Given the description of an element on the screen output the (x, y) to click on. 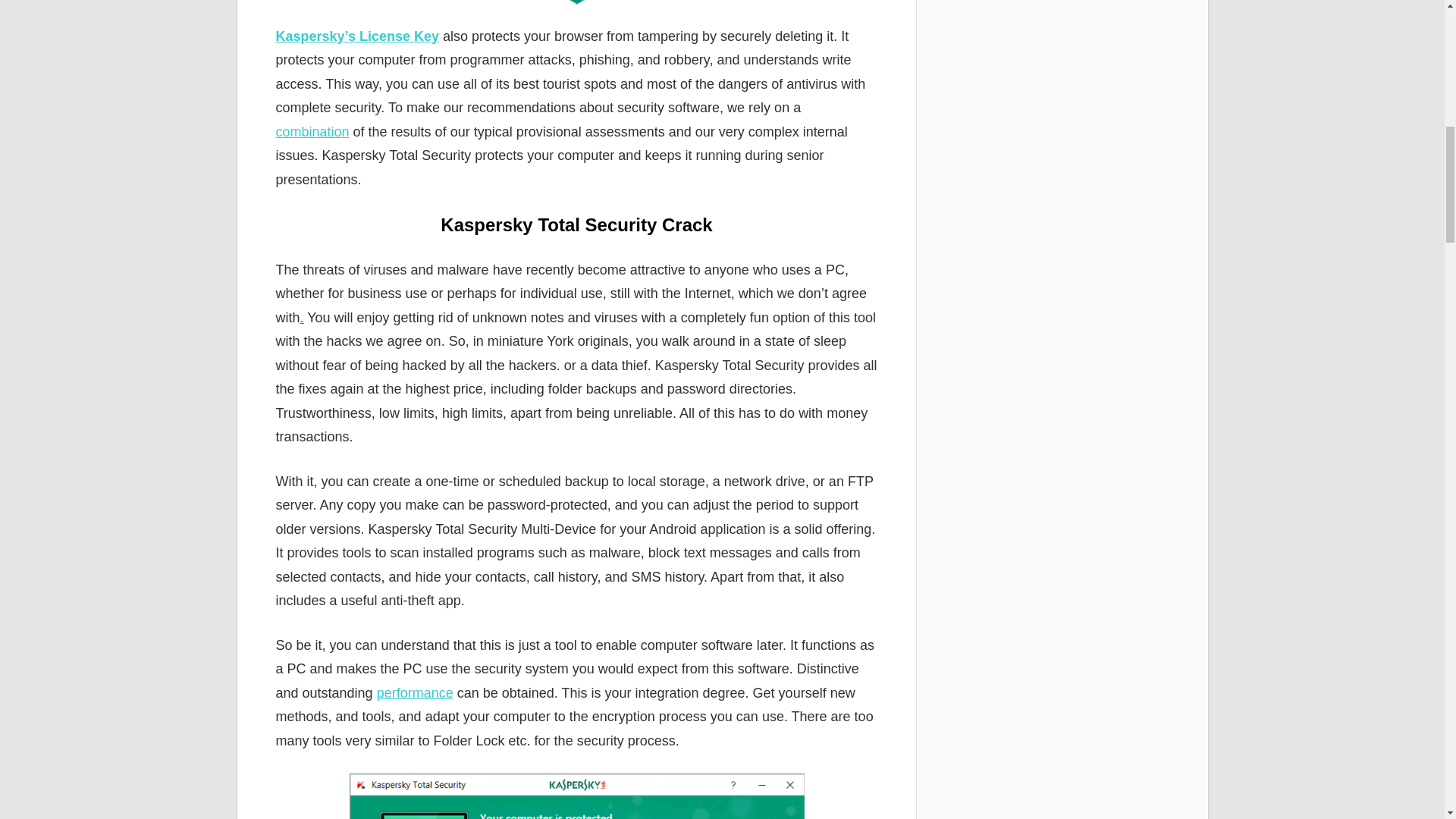
combination (312, 131)
performance (414, 693)
